Given the description of an element on the screen output the (x, y) to click on. 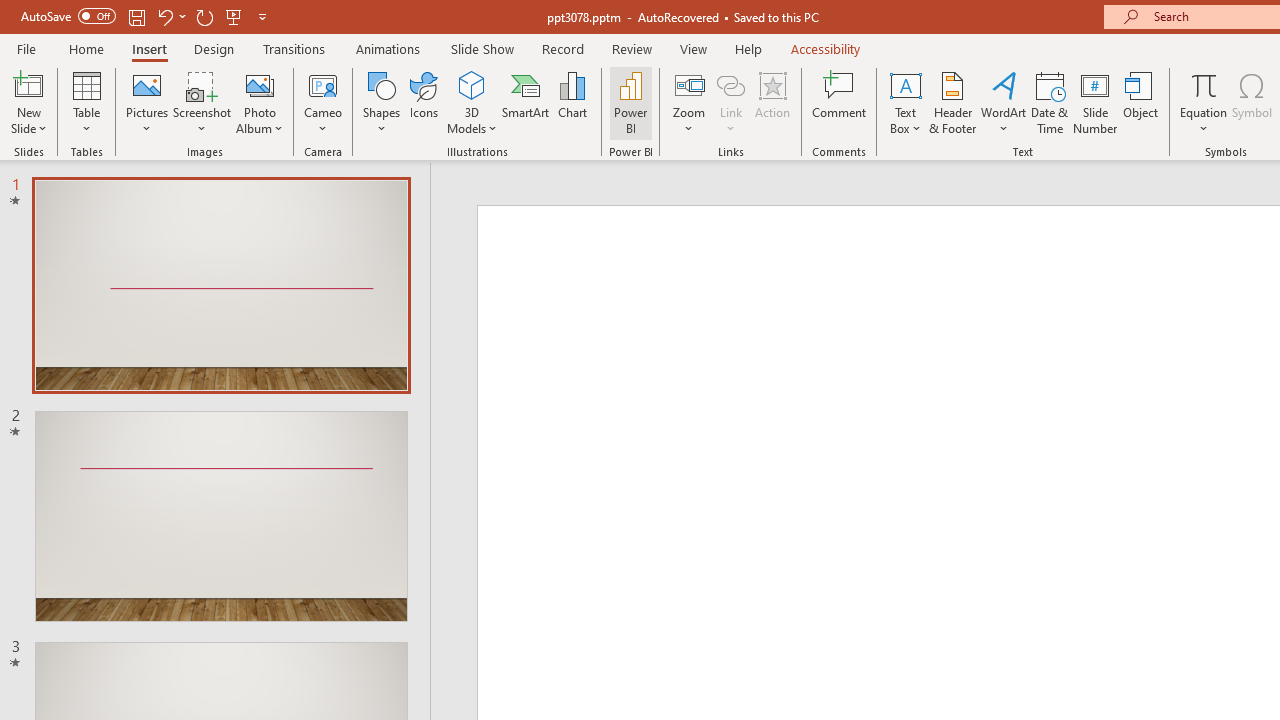
Action (772, 102)
WordArt (1004, 102)
Pictures (147, 102)
New Slide (28, 84)
Draw Horizontal Text Box (905, 84)
New Slide (28, 102)
Symbol... (1252, 102)
Table (86, 102)
Power BI (630, 102)
Cameo (323, 102)
